Given the description of an element on the screen output the (x, y) to click on. 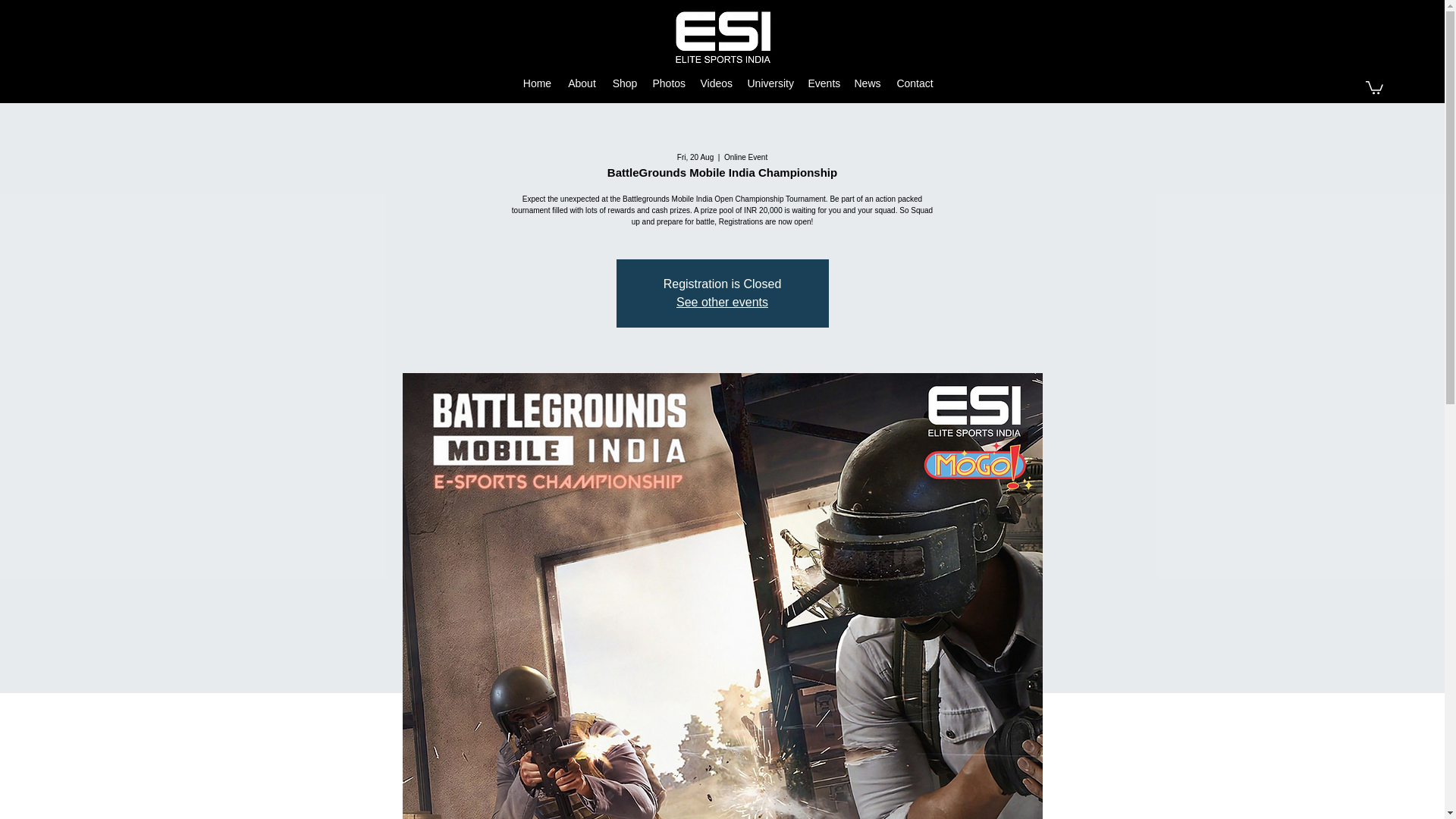
Contact (915, 83)
Events (823, 83)
About (582, 83)
See other events (722, 301)
Videos (716, 83)
University (769, 83)
News (866, 83)
Photos (669, 83)
Home (537, 83)
Shop (625, 83)
